Given the description of an element on the screen output the (x, y) to click on. 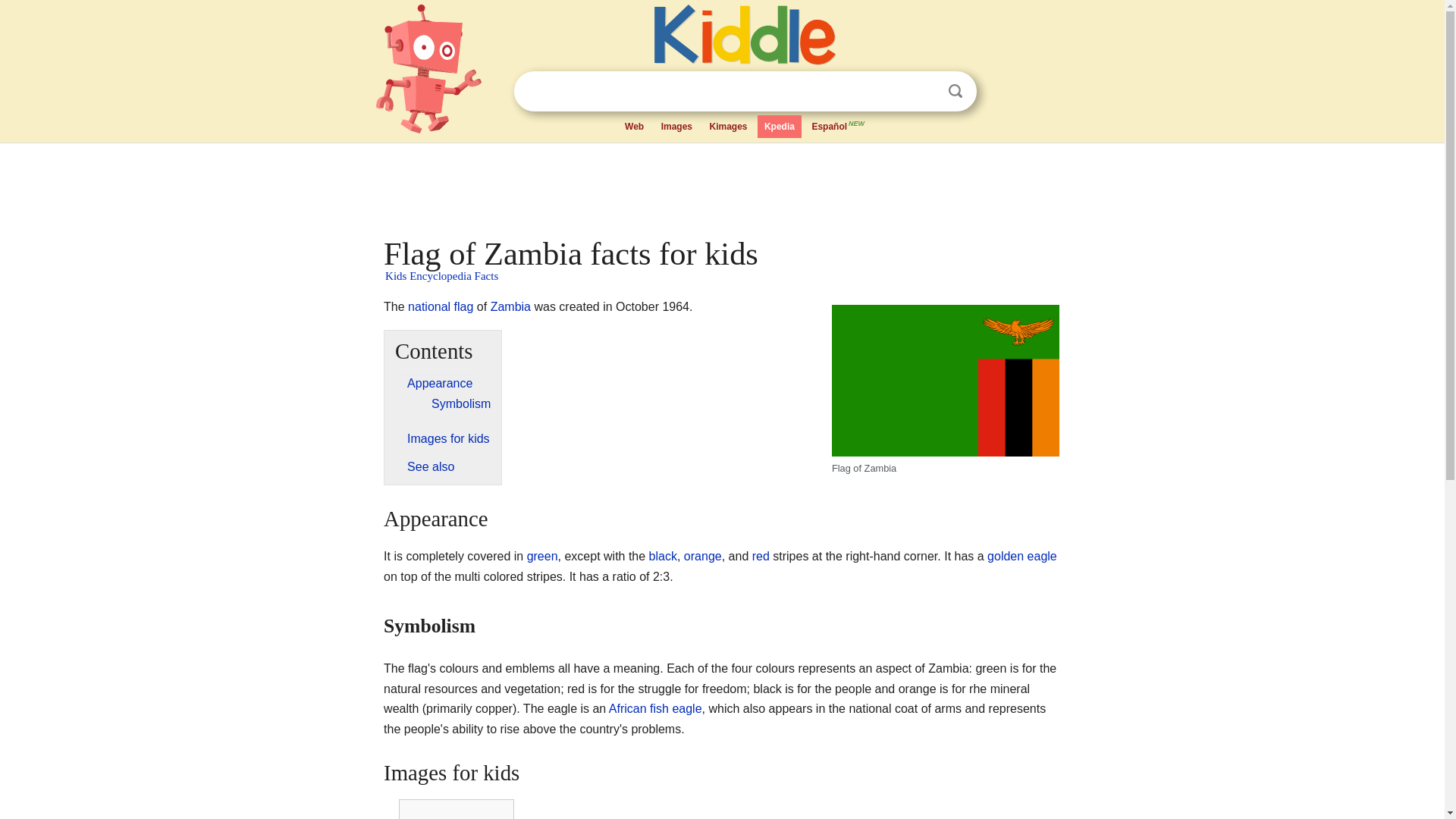
Kids Encyclopedia Facts (441, 275)
black (663, 555)
Zambia (510, 306)
eagle (1042, 555)
African fish eagle (654, 707)
Red (761, 555)
Clear (924, 91)
Flag (440, 306)
Kpedia (779, 126)
Images (675, 126)
Kimages (727, 126)
red (761, 555)
Web (633, 126)
Images for kids (448, 438)
Black (663, 555)
